Given the description of an element on the screen output the (x, y) to click on. 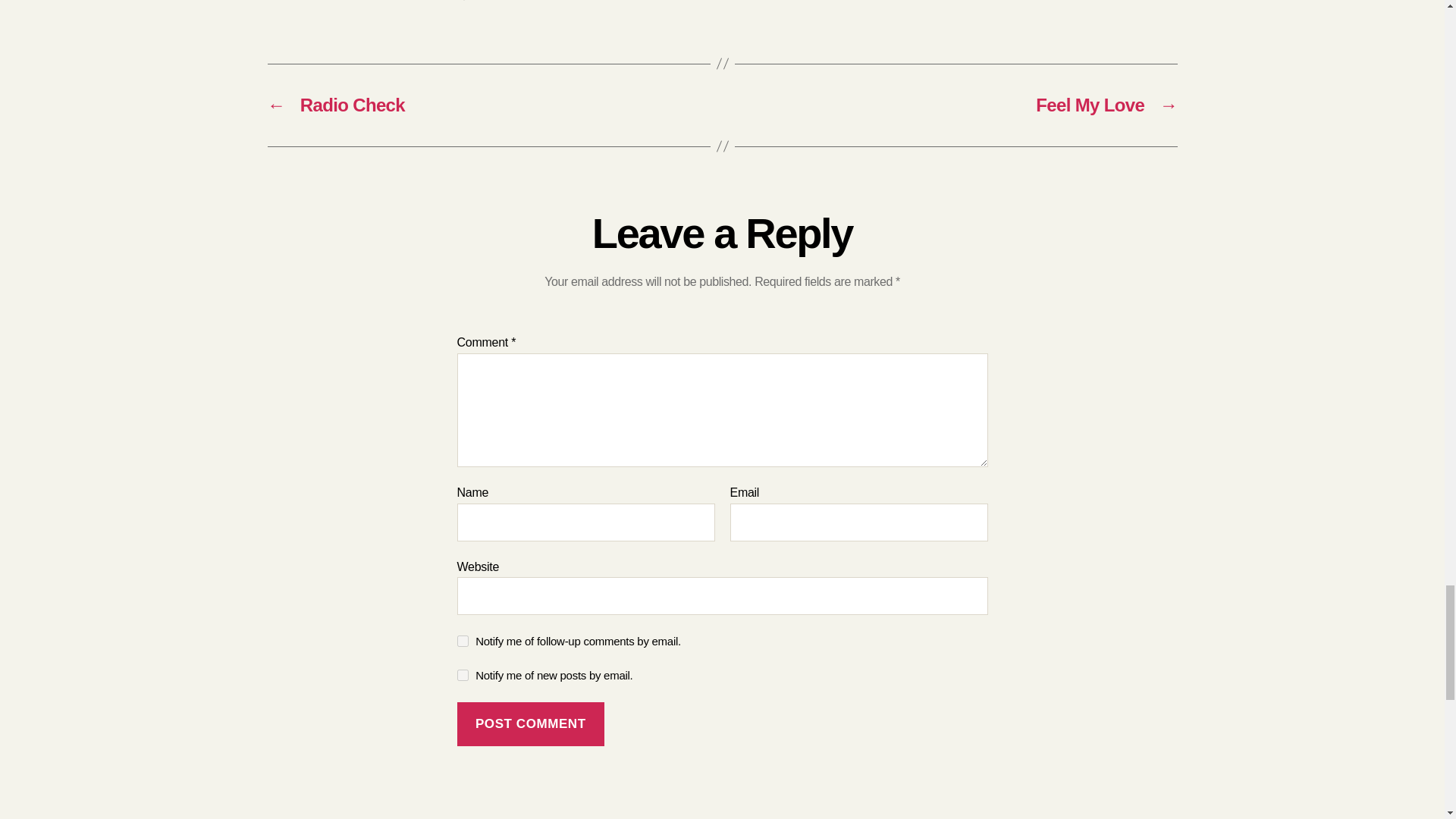
subscribe (462, 641)
Post Comment (530, 723)
subscribe (462, 674)
